Given the description of an element on the screen output the (x, y) to click on. 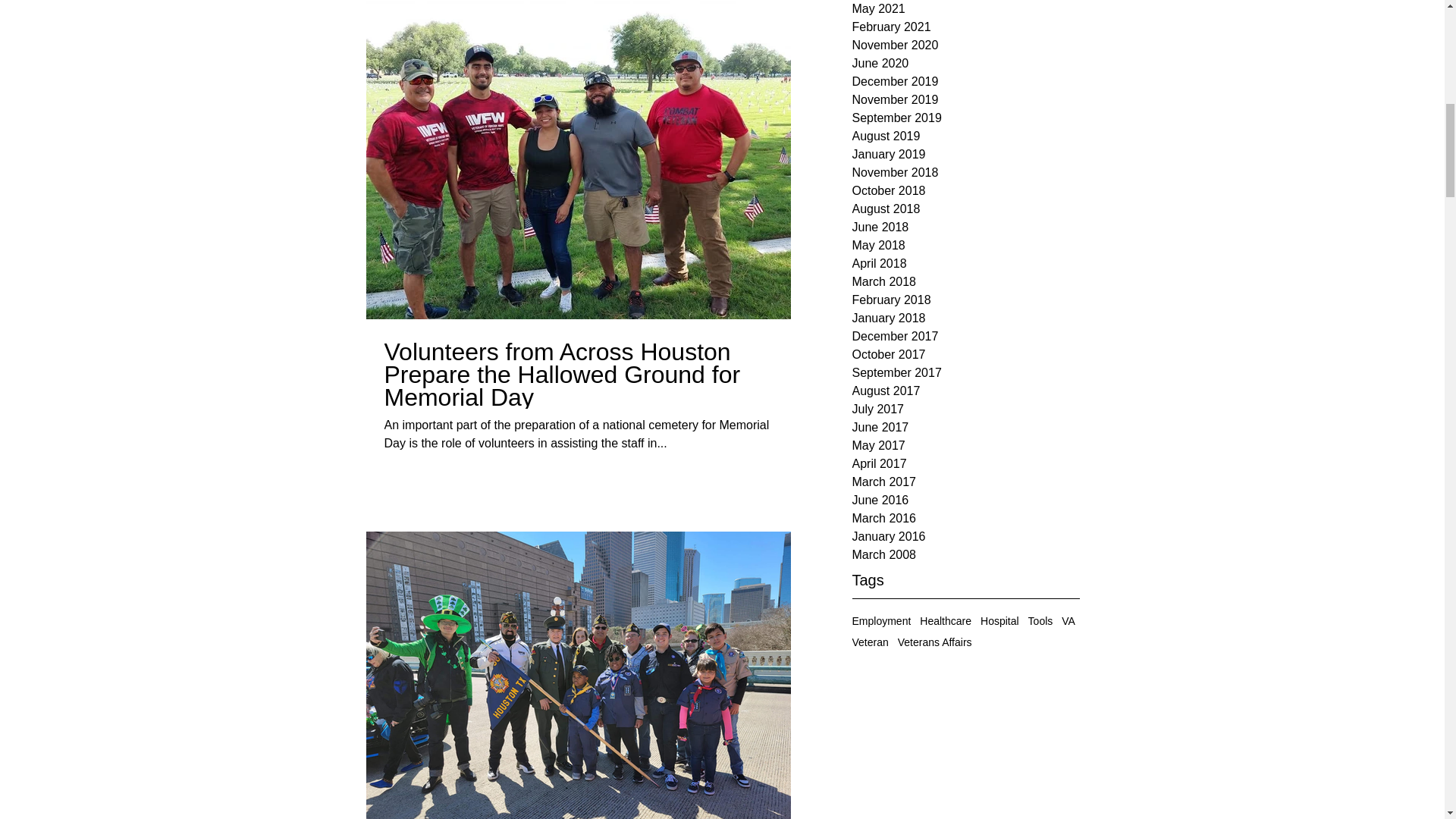
May 2021 (965, 9)
